Given the description of an element on the screen output the (x, y) to click on. 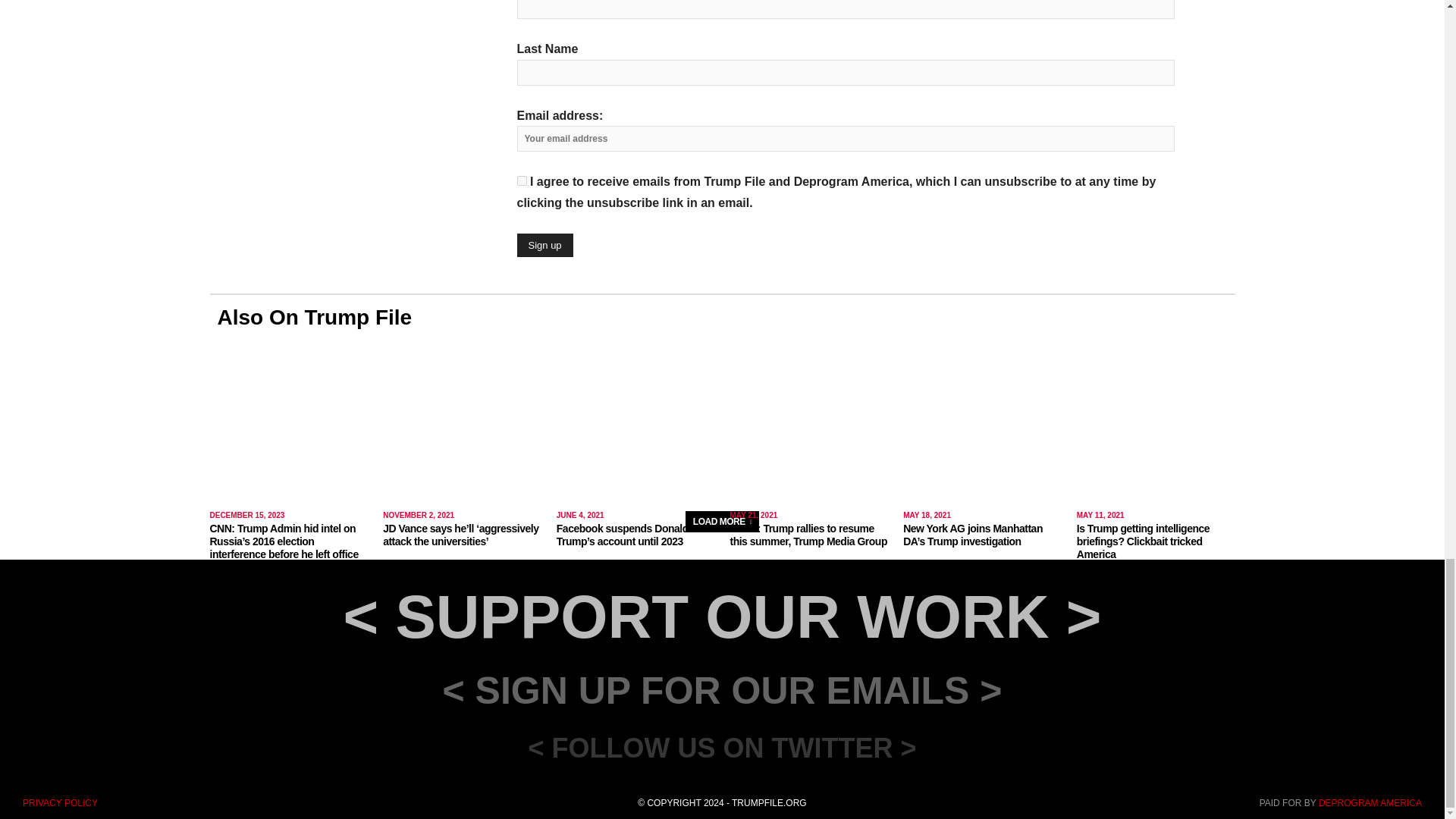
Sign up (544, 245)
1 (521, 180)
